Given the description of an element on the screen output the (x, y) to click on. 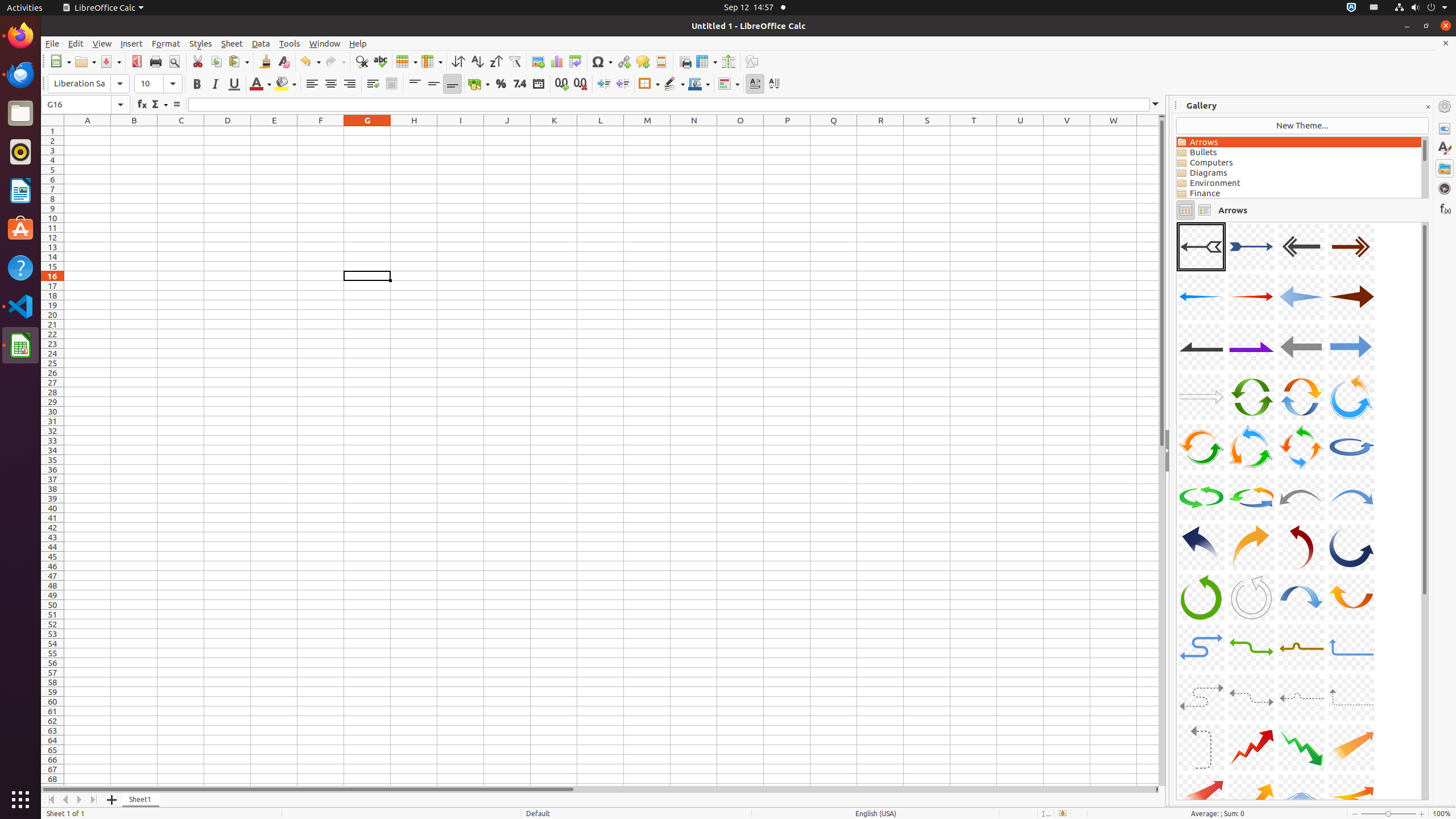
Font Name Element type: combo-box (88, 83)
Row Element type: push-button (406, 61)
X1 Element type: table-cell (1147, 130)
Font Size Element type: combo-box (158, 83)
Clone Element type: push-button (264, 61)
